Given the description of an element on the screen output the (x, y) to click on. 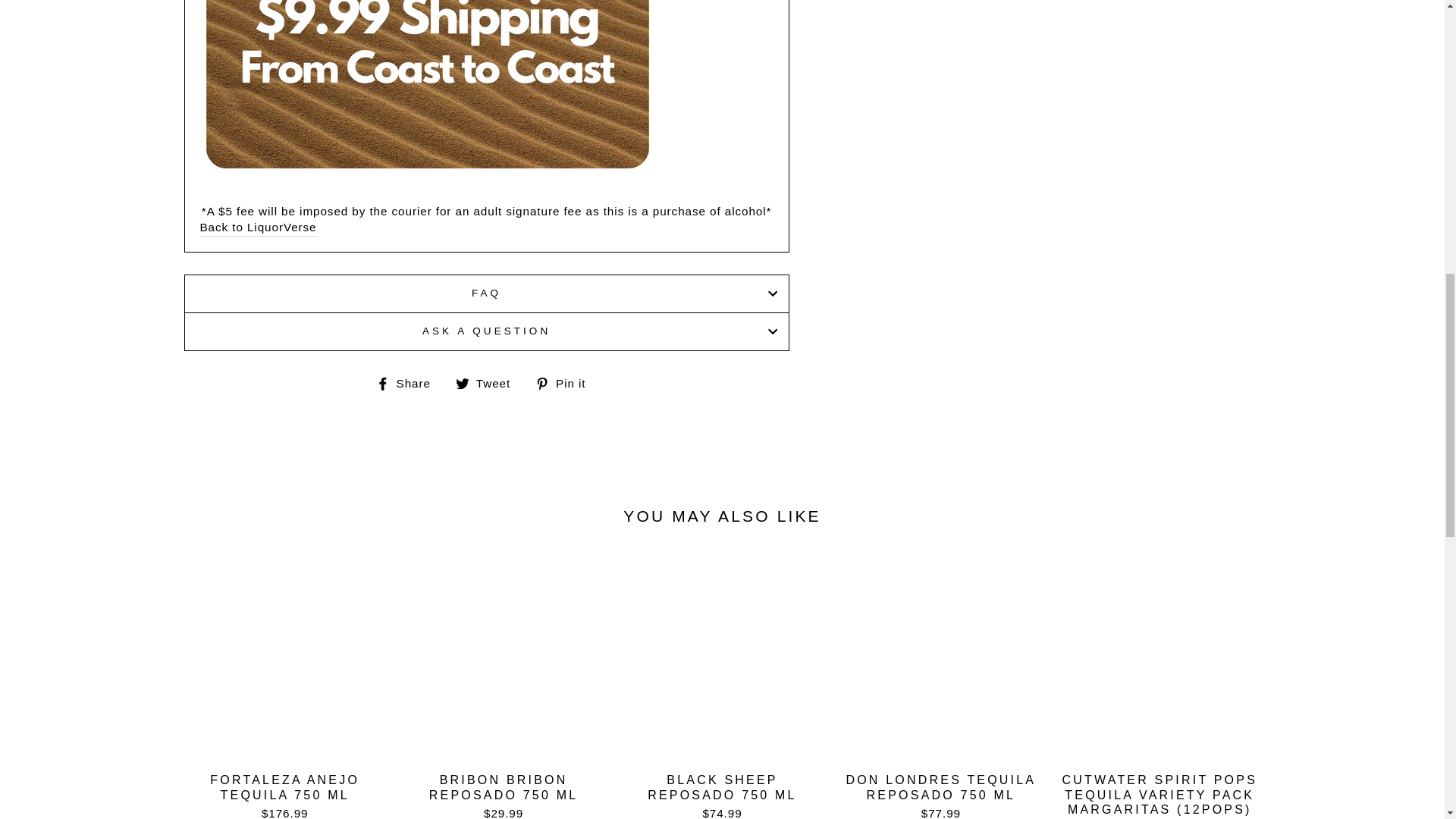
FAQ (486, 293)
Tweet on Twitter (488, 383)
Share on Facebook (408, 383)
Back to LiquorVerse (258, 227)
Pin on Pinterest (565, 383)
